Given the description of an element on the screen output the (x, y) to click on. 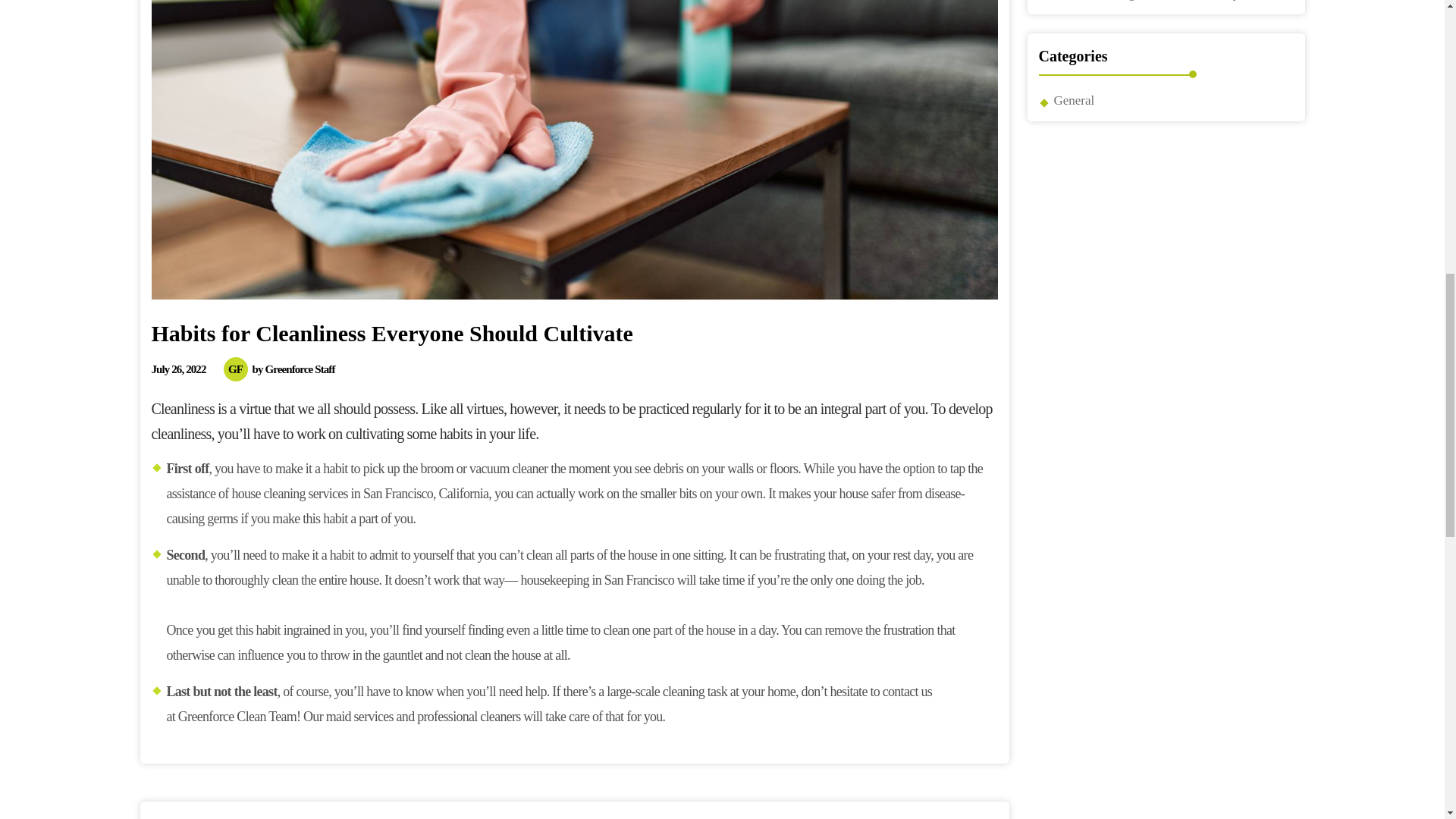
General (1074, 100)
